Given the description of an element on the screen output the (x, y) to click on. 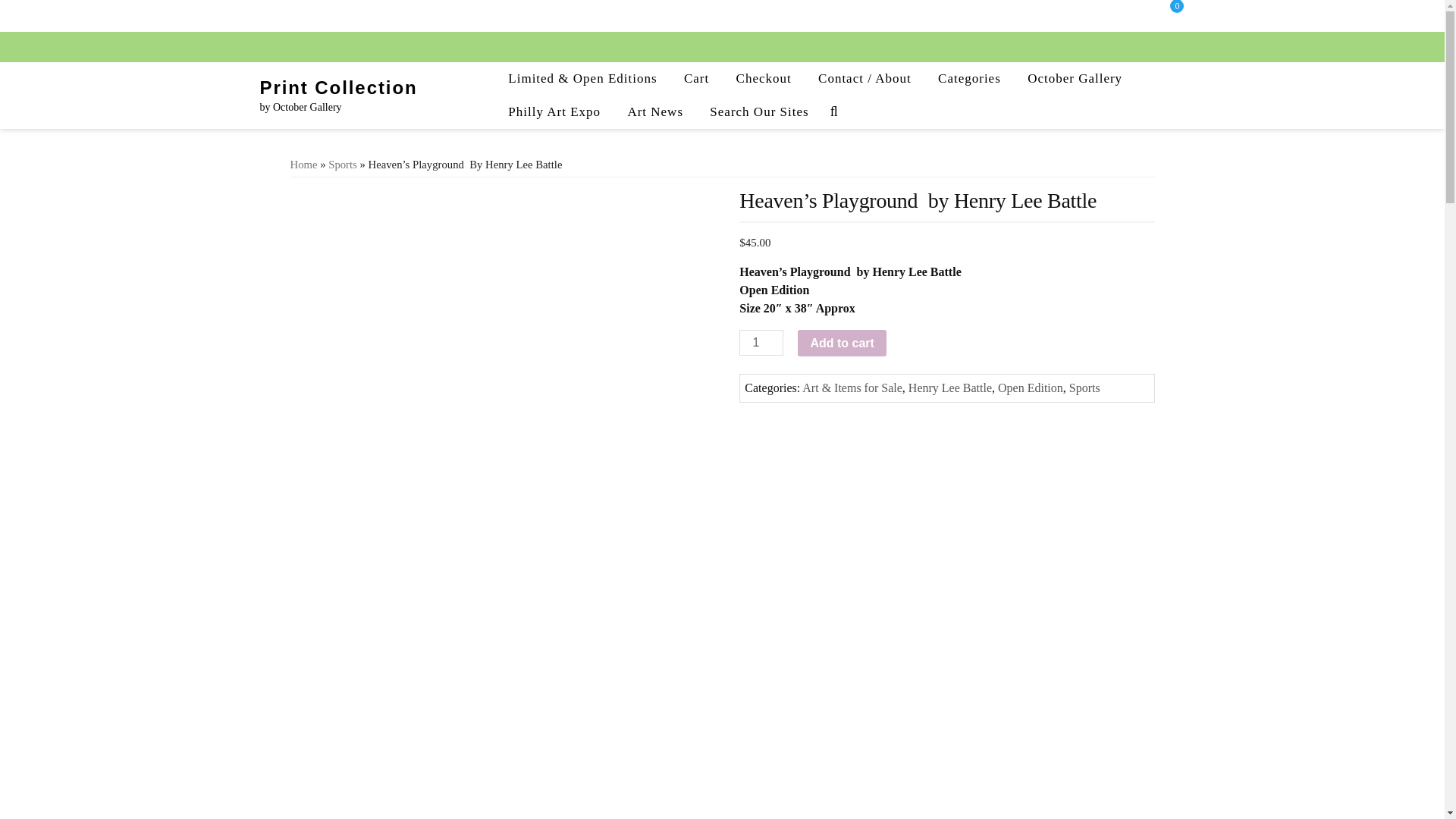
Cart (696, 78)
Philly Art Expo (553, 111)
My Account (1117, 14)
Categories (968, 78)
Print Collection (337, 86)
Checkout (763, 78)
1 (761, 343)
Qty (761, 343)
October Gallery (1075, 78)
